Given the description of an element on the screen output the (x, y) to click on. 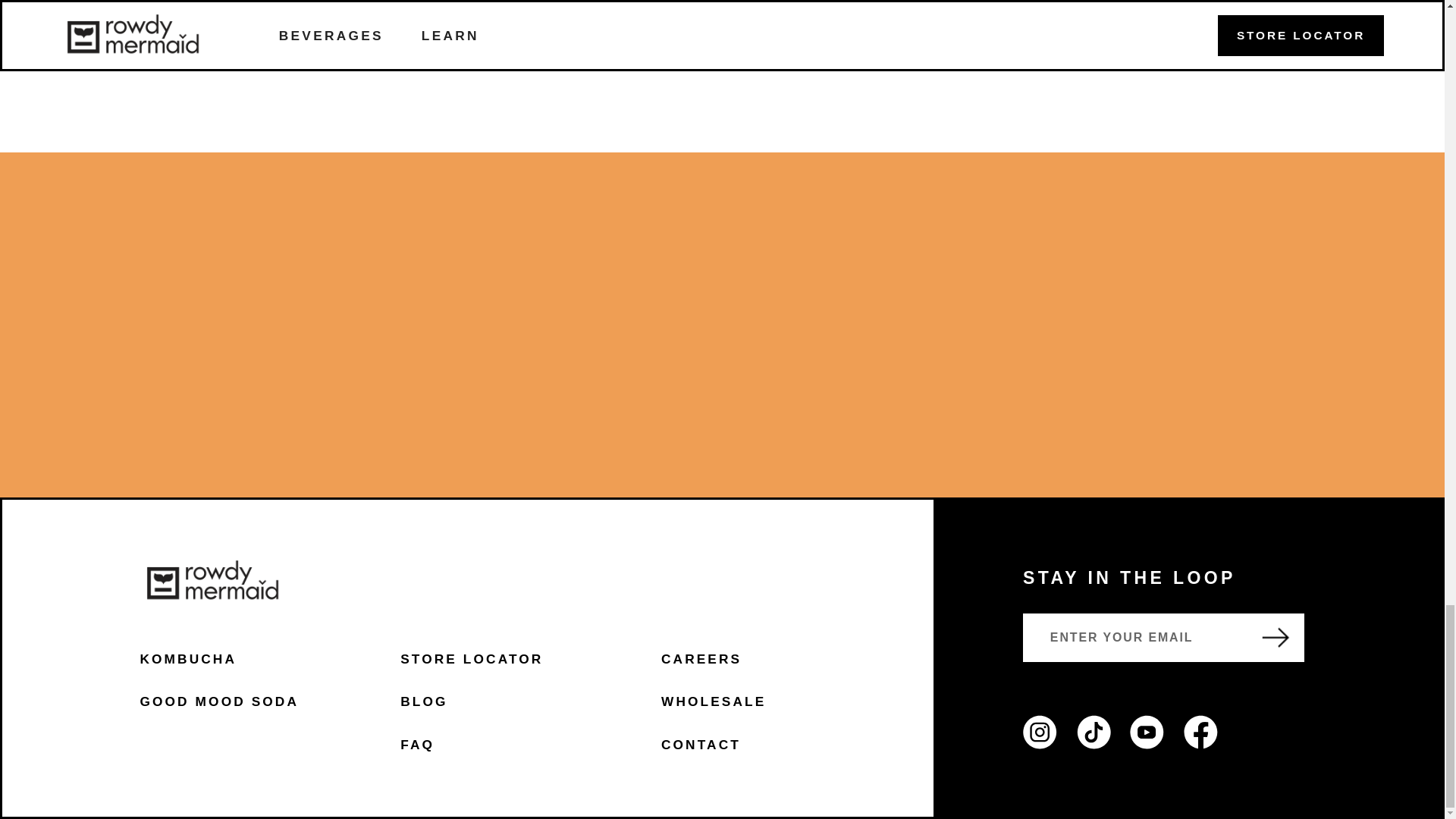
STORE LOCATOR (471, 658)
WHOLESALE (713, 701)
KOMBUCHA (187, 658)
CAREERS (701, 658)
CONTACT (701, 744)
Submit (1274, 637)
GOOD MOOD SODA (218, 701)
BLOG (423, 701)
s (1040, 731)
Submit (1274, 637)
FAQ (416, 744)
